Given the description of an element on the screen output the (x, y) to click on. 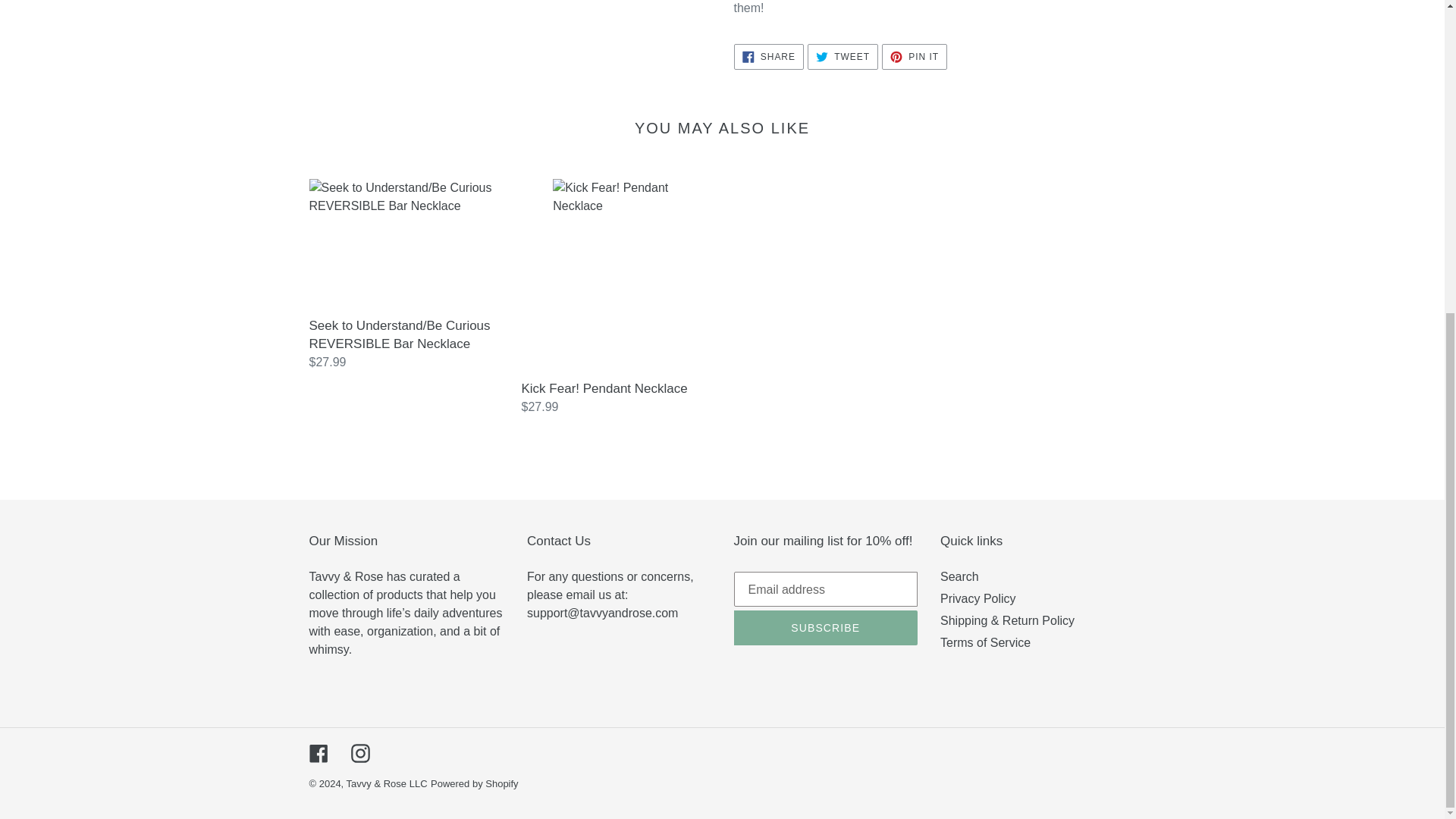
Kick Fear! Pendant Necklace (616, 297)
Powered by Shopify (474, 783)
Facebook (318, 752)
Privacy Policy (914, 56)
SUBSCRIBE (978, 598)
Search (825, 627)
Terms of Service (842, 56)
Instagram (959, 576)
